Given the description of an element on the screen output the (x, y) to click on. 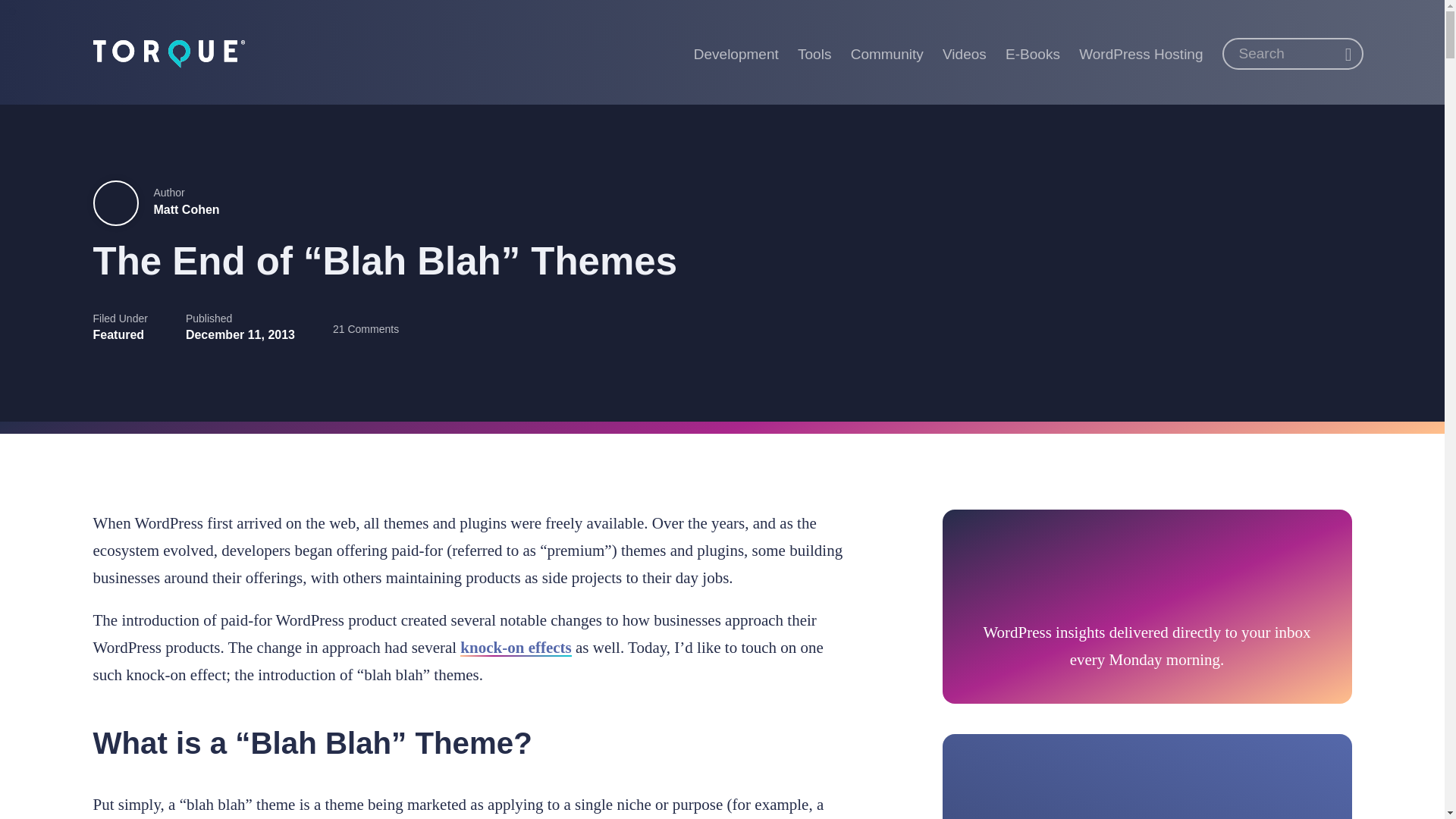
Community (887, 52)
E-Books (1032, 52)
Featured (118, 334)
WordPress Hosting (1141, 52)
Development (736, 52)
Videos (964, 52)
Search (1348, 54)
knock-on effects (515, 647)
Tools (813, 52)
Matt Cohen (185, 209)
Torque (168, 52)
